Given the description of an element on the screen output the (x, y) to click on. 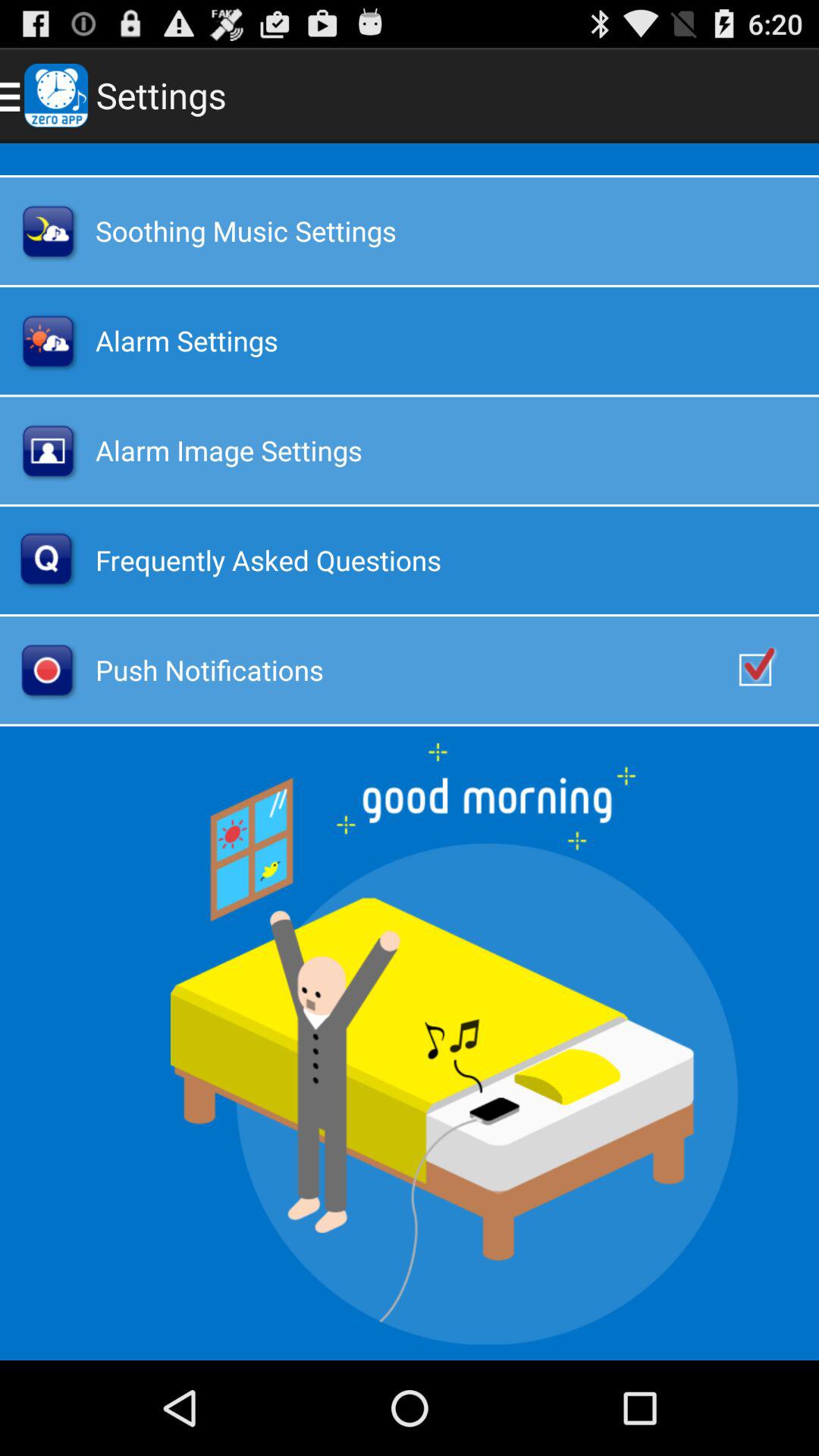
push notifications selected (771, 670)
